Given the description of an element on the screen output the (x, y) to click on. 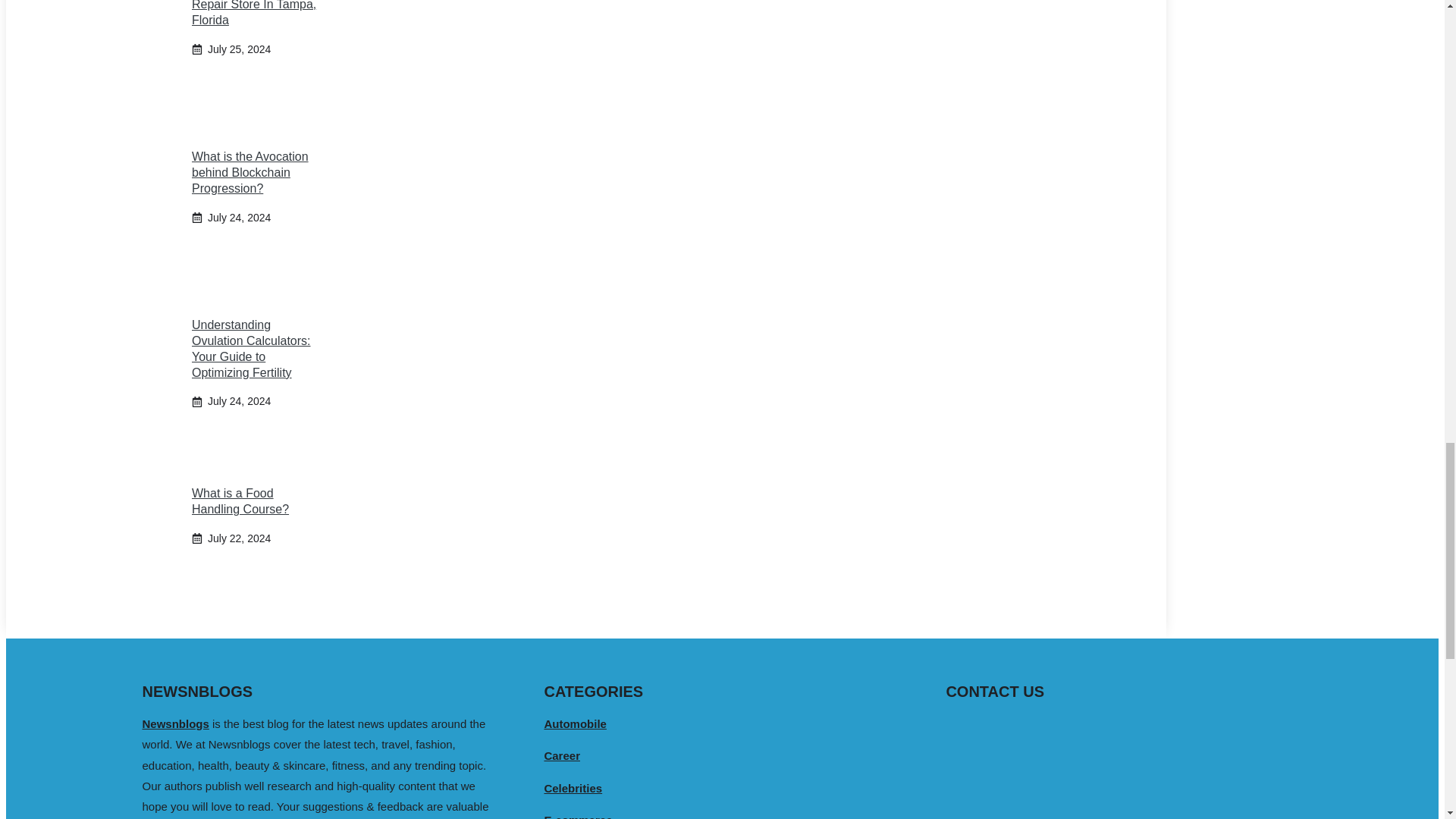
Celebrities (572, 788)
Career (561, 755)
What is the Avocation behind Blockchain Progression? (250, 171)
Newsnblogs (175, 723)
What is a Food Handling Course? (240, 500)
Best Dell Computer Repair Store In Tampa, Florida (253, 13)
E-commerce (577, 816)
Automobile (575, 723)
